Given the description of an element on the screen output the (x, y) to click on. 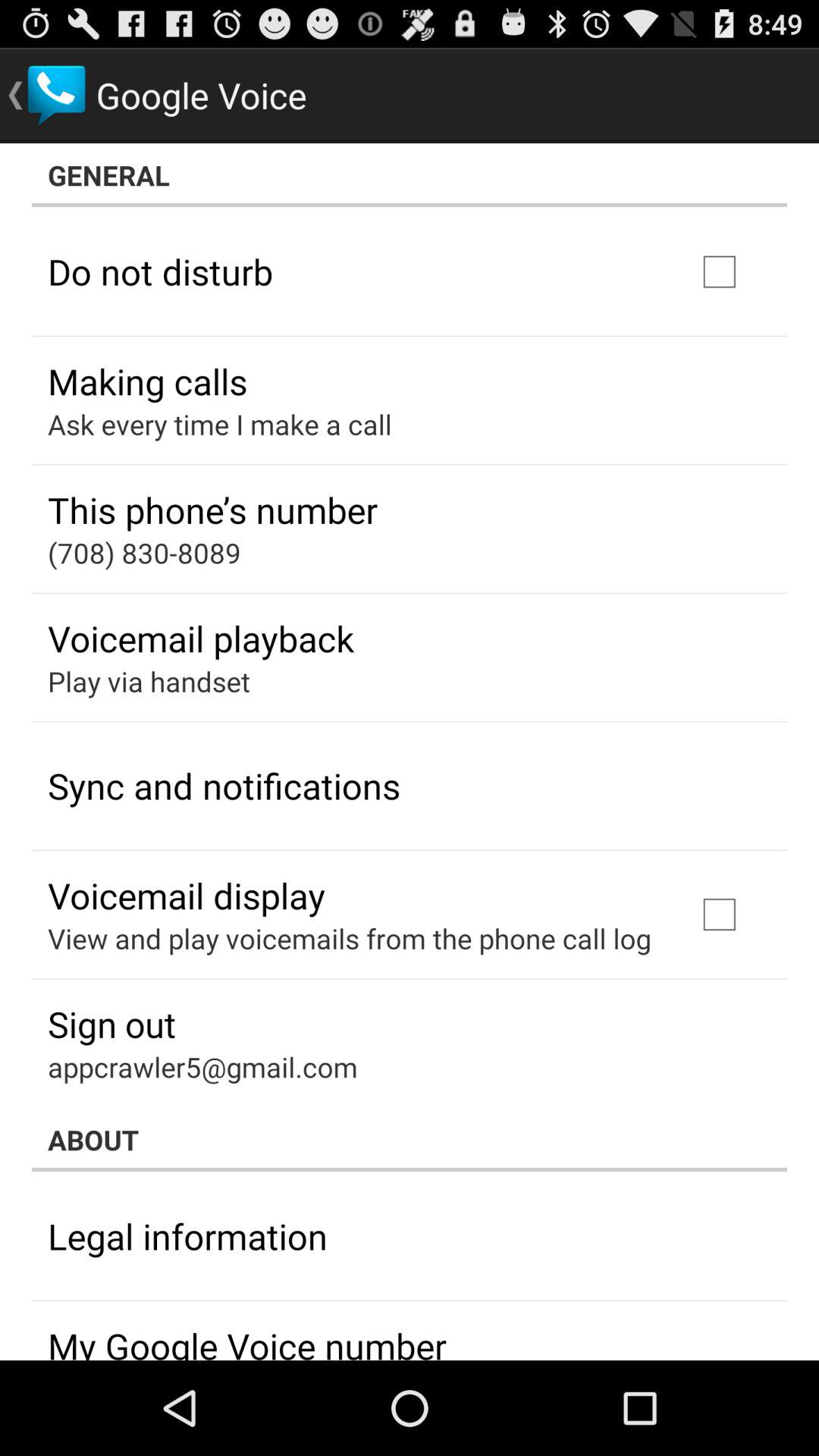
launch the icon above sync and notifications icon (148, 681)
